Given the description of an element on the screen output the (x, y) to click on. 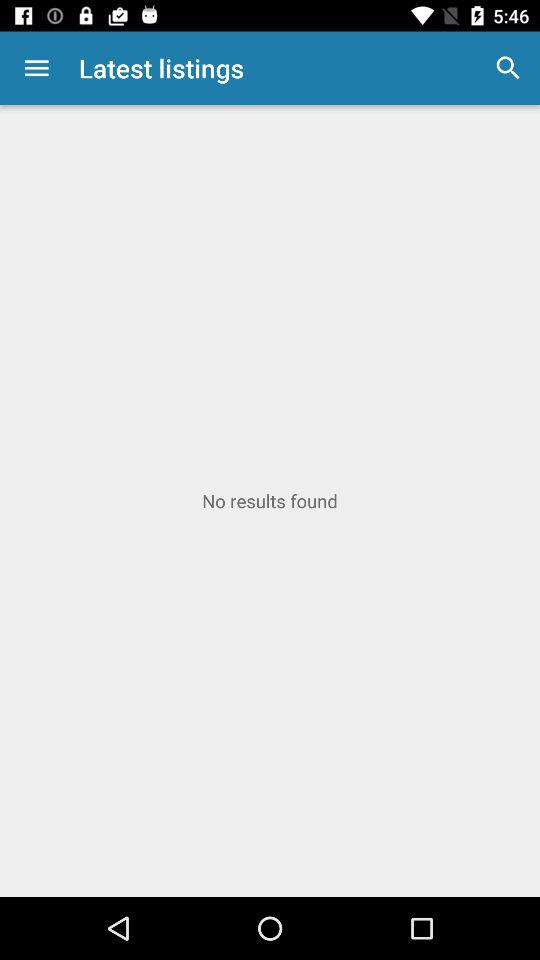
click icon at the top right corner (508, 67)
